Given the description of an element on the screen output the (x, y) to click on. 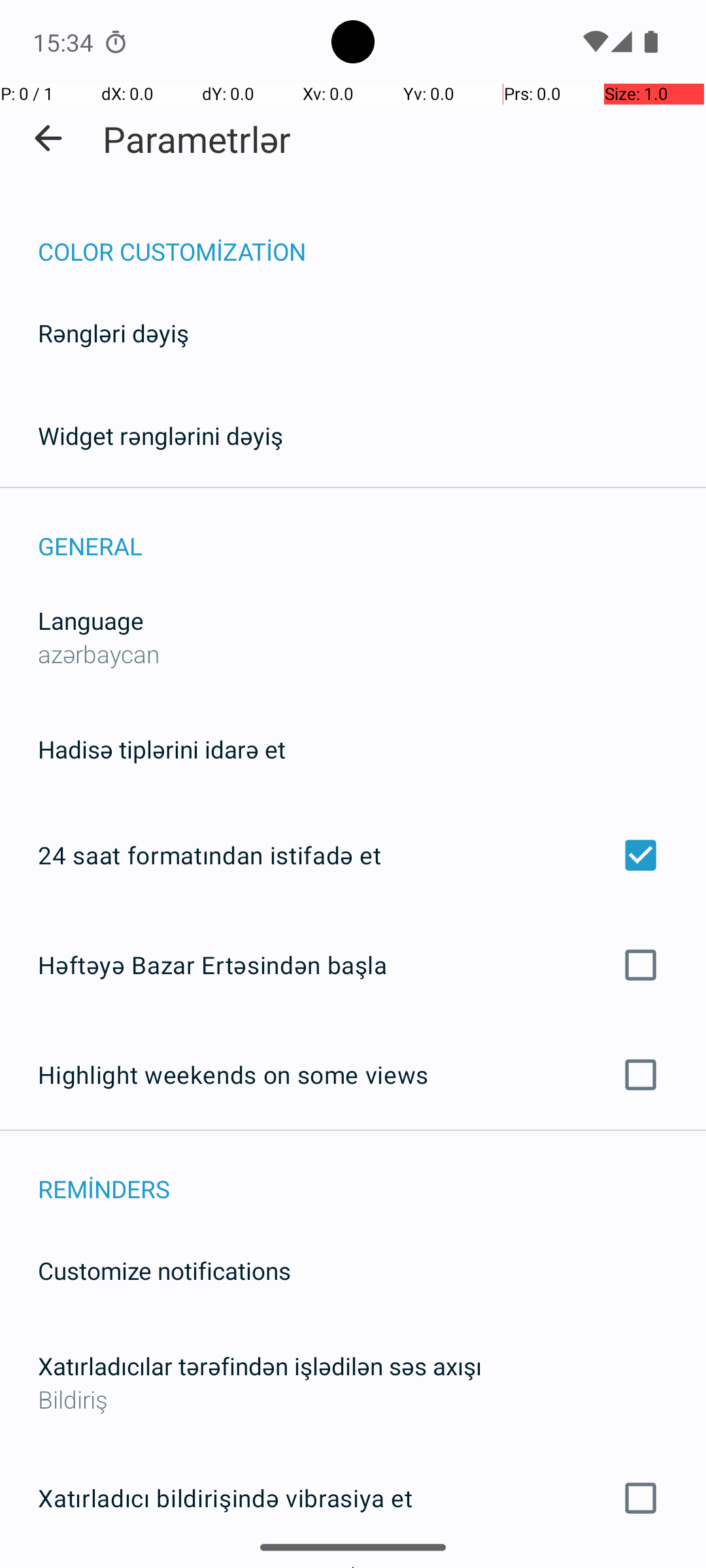
Parametrlər Element type: android.widget.TextView (196, 138)
COLOR CUSTOMİZATİON Element type: android.widget.TextView (371, 237)
REMİNDERS Element type: android.widget.TextView (371, 1174)
Rəngləri dəyiş Element type: android.widget.TextView (112, 332)
Widget rənglərini dəyiş Element type: android.widget.TextView (160, 435)
azərbaycan Element type: android.widget.TextView (98, 653)
Hadisə tiplərini idarə et Element type: android.widget.TextView (161, 748)
24 saat formatından istifadə et Element type: android.widget.CheckBox (352, 855)
Həftəyə Bazar Ertəsindən başla Element type: android.widget.CheckBox (352, 964)
Xatırladıcılar tərəfindən işlədilən səs axışı Element type: android.widget.TextView (259, 1365)
Bildiriş Element type: android.widget.TextView (352, 1398)
Xatırladıcı bildirişində vibrasiya et Element type: android.widget.CheckBox (352, 1497)
Buraxılana qədər xatırladıcıları təkrarla Element type: android.widget.CheckBox (352, 1567)
